Given the description of an element on the screen output the (x, y) to click on. 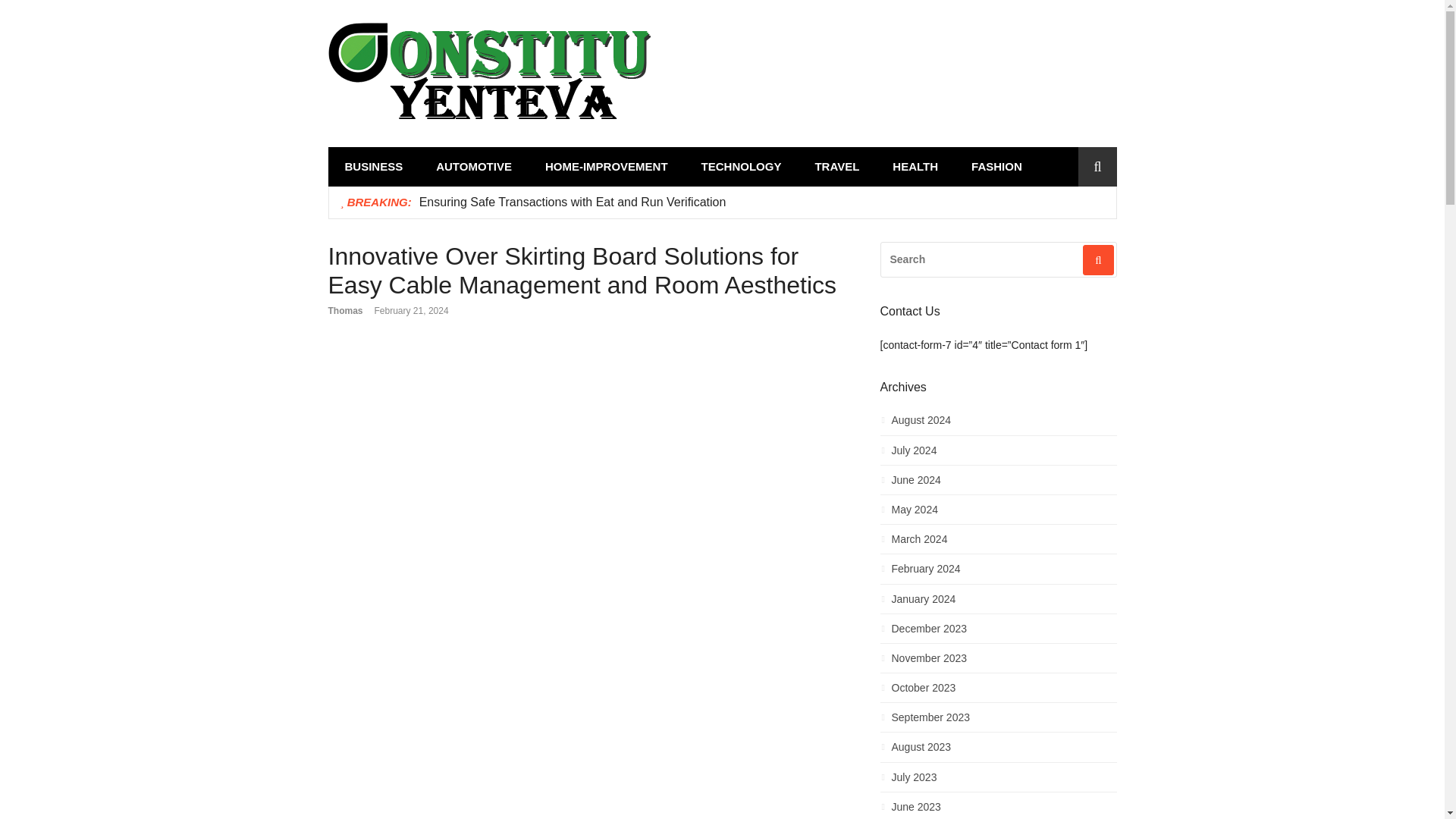
November 2023 (997, 662)
TRAVEL (836, 167)
August 2024 (997, 423)
AUTOMOTIVE (473, 167)
HOME-IMPROVEMENT (606, 167)
July 2024 (997, 454)
March 2024 (997, 543)
February 2024 (997, 572)
September 2023 (997, 721)
FASHION (997, 167)
